Given the description of an element on the screen output the (x, y) to click on. 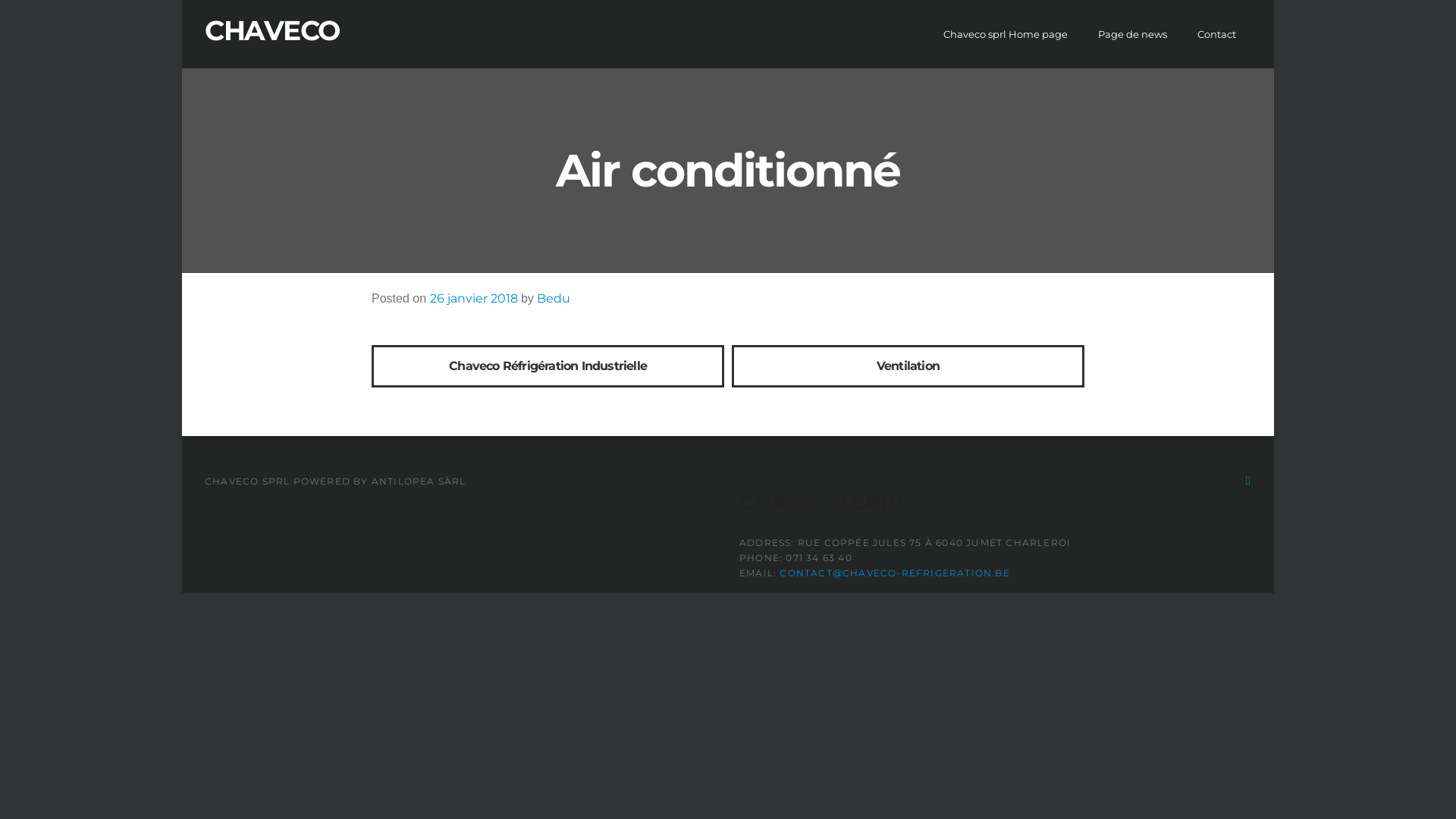
Chaveco sprl Home page Element type: text (1005, 34)
Bedu Element type: text (553, 298)
Page de news Element type: text (1132, 34)
Skip to content Element type: text (0, 0)
Contact Element type: text (1216, 34)
CONTACT@CHAVECO-REFRIGERATION.BE Element type: text (894, 572)
CHAVECO Element type: text (271, 30)
26 janvier 2018 Element type: text (473, 298)
Ventilation Element type: text (907, 366)
